Given the description of an element on the screen output the (x, y) to click on. 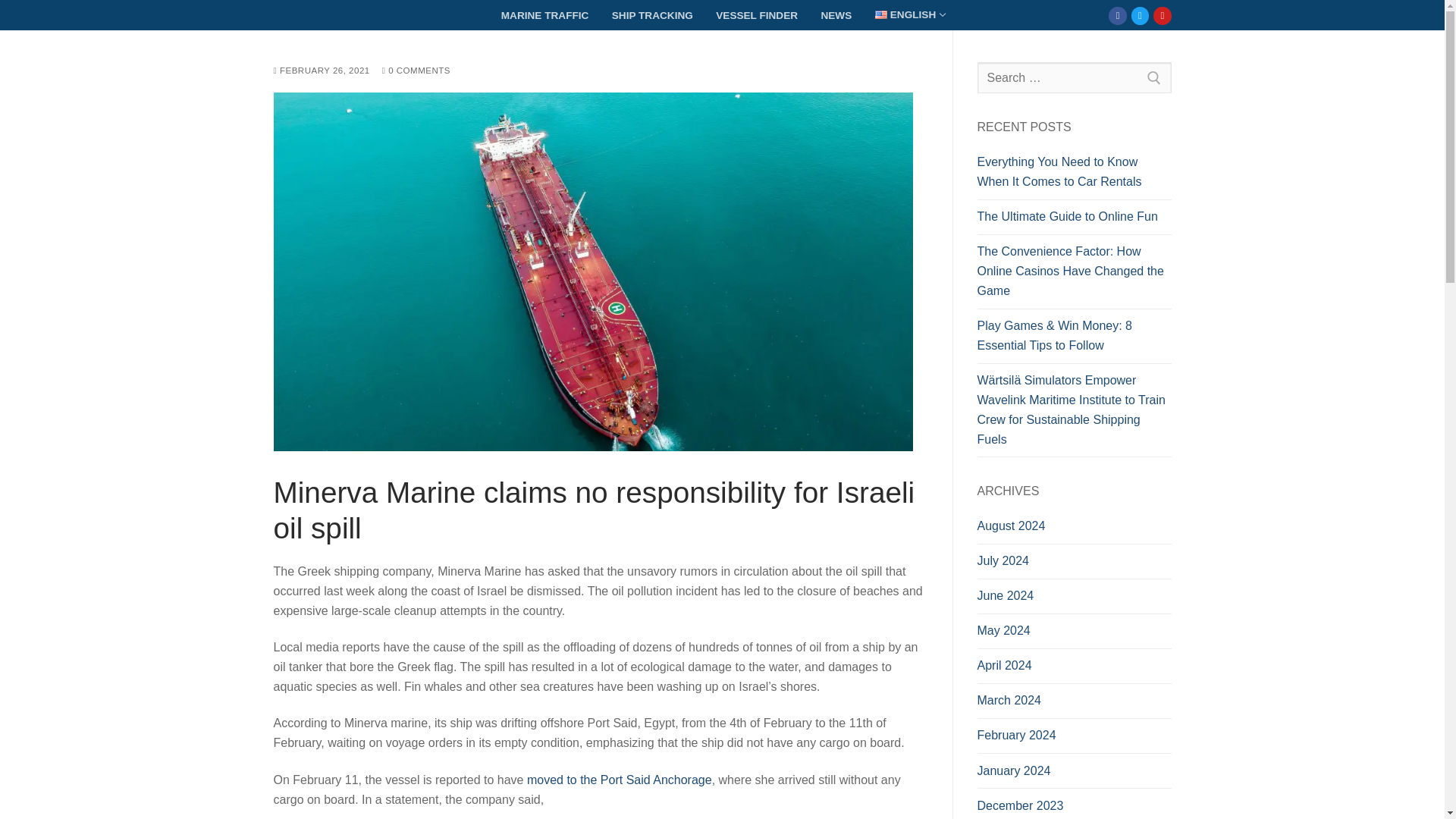
NEWS (835, 15)
FEBRUARY 26, 2021 (908, 14)
May 2024 (321, 70)
SHIP TRACKING (1073, 634)
Youtube (652, 15)
Search for: (1162, 15)
Twitter (1073, 78)
Facebook (1139, 15)
June 2024 (1117, 15)
